Given the description of an element on the screen output the (x, y) to click on. 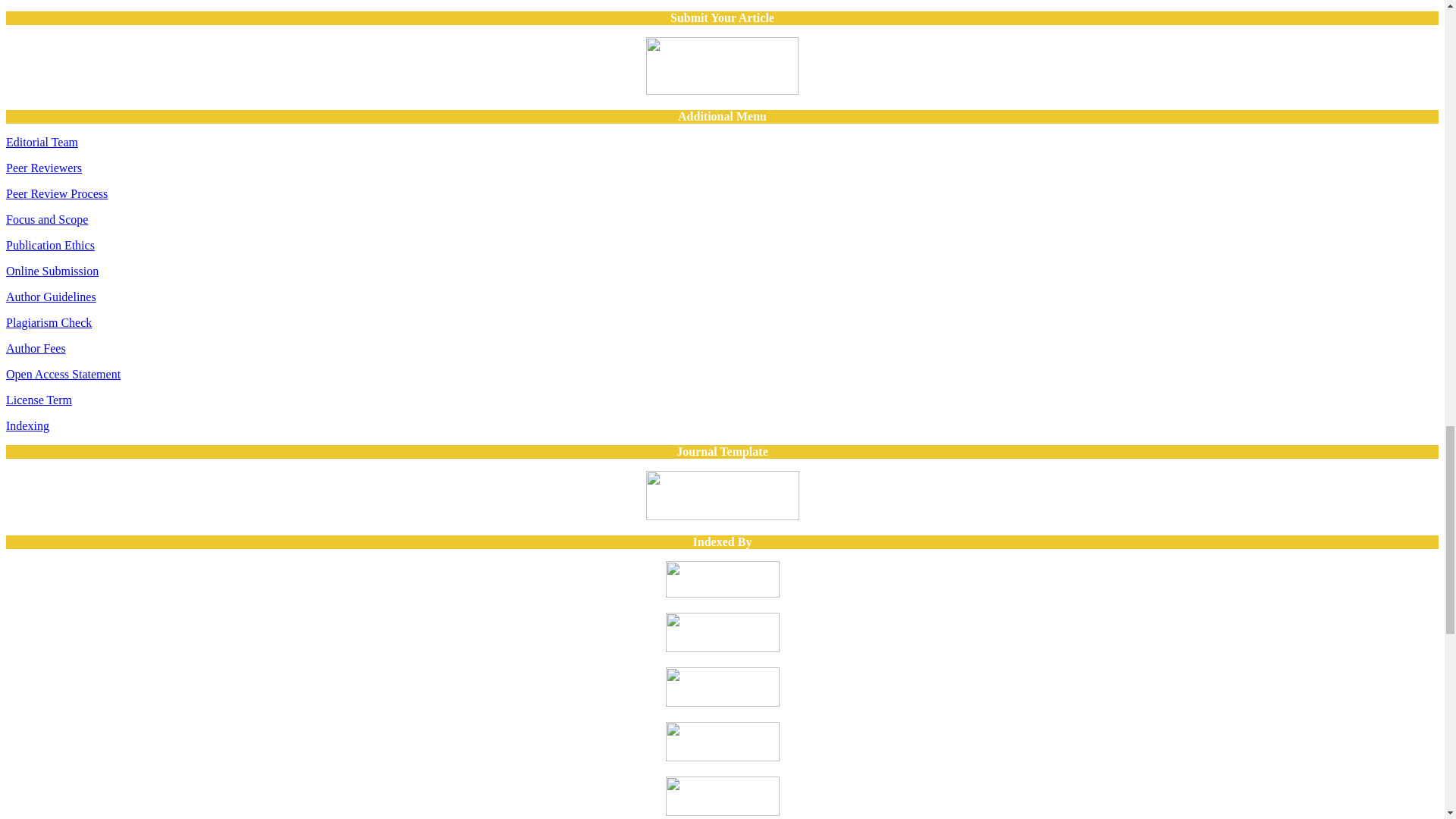
Dimensions (721, 757)
